Given the description of an element on the screen output the (x, y) to click on. 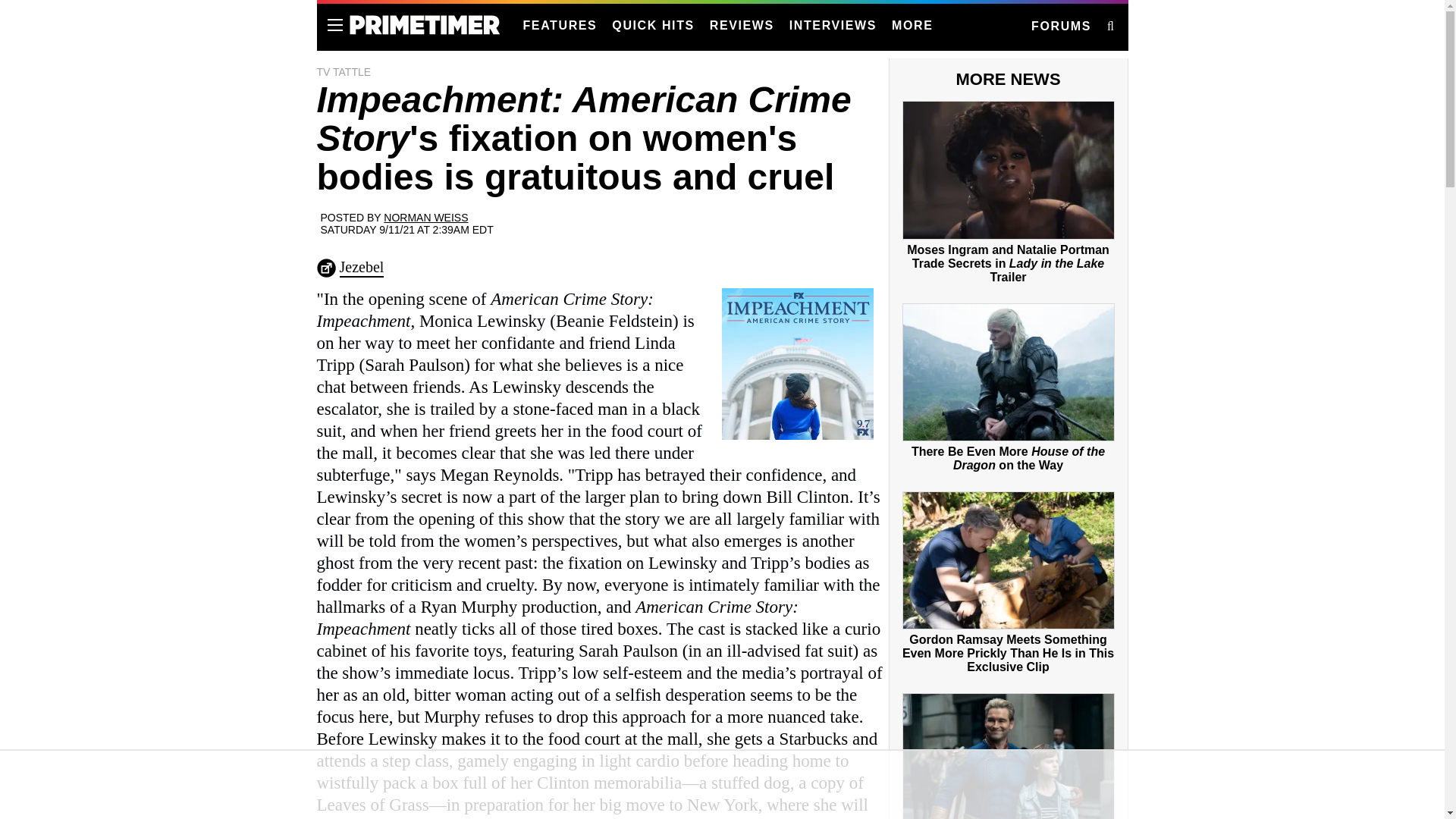
FEATURES (559, 26)
REVIEWS (742, 26)
MORE (912, 26)
INTERVIEWS (832, 26)
Jezebel (361, 268)
NORMAN WEISS (425, 217)
QUICK HITS (652, 26)
FORUMS (1060, 26)
